Given the description of an element on the screen output the (x, y) to click on. 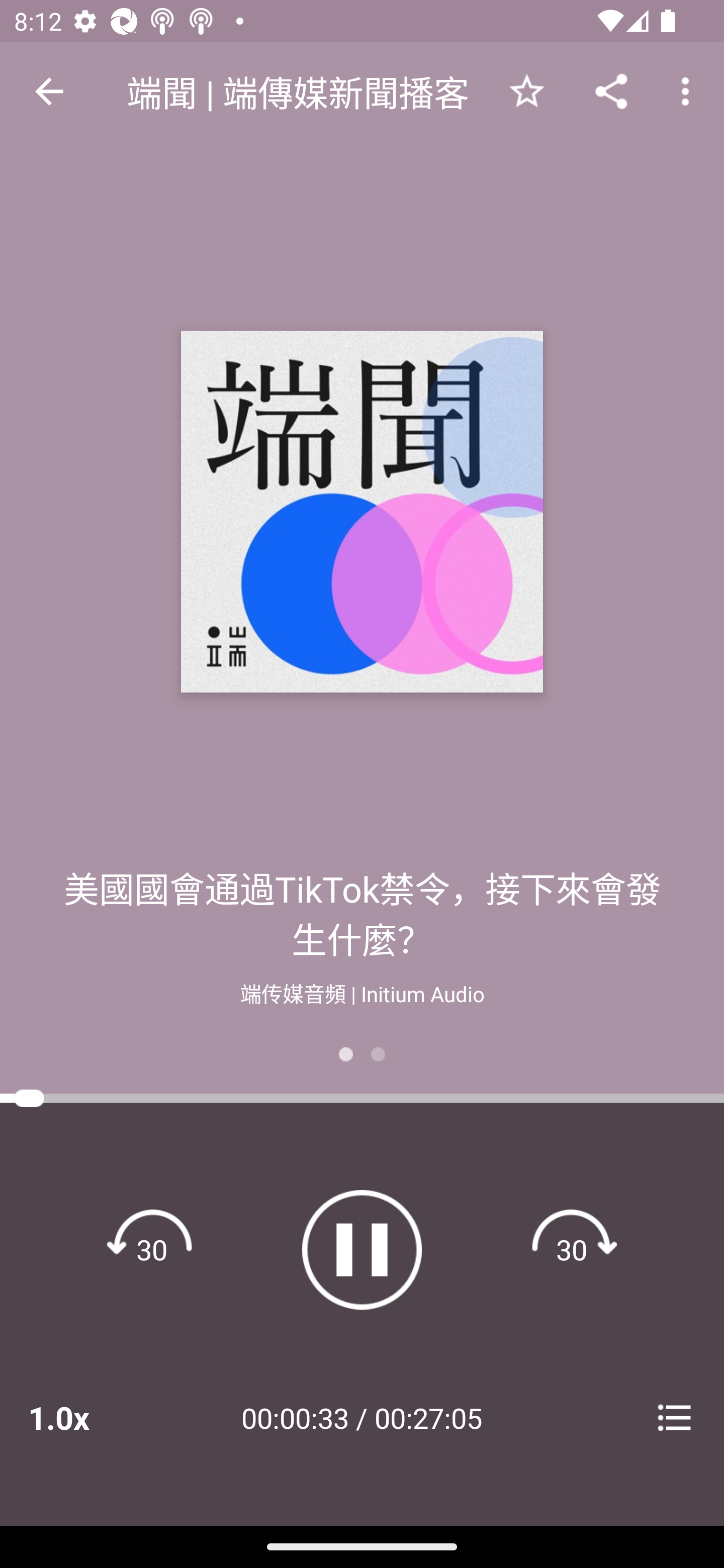
Navigate up (49, 91)
Add to Favorites (526, 90)
Share... (611, 90)
More options (688, 90)
端传媒音頻 | Initium Audio (361, 992)
Pause (361, 1249)
Rewind (151, 1249)
Fast forward (571, 1249)
1.0x Playback Speeds (84, 1417)
00:27:05 (428, 1417)
